Given the description of an element on the screen output the (x, y) to click on. 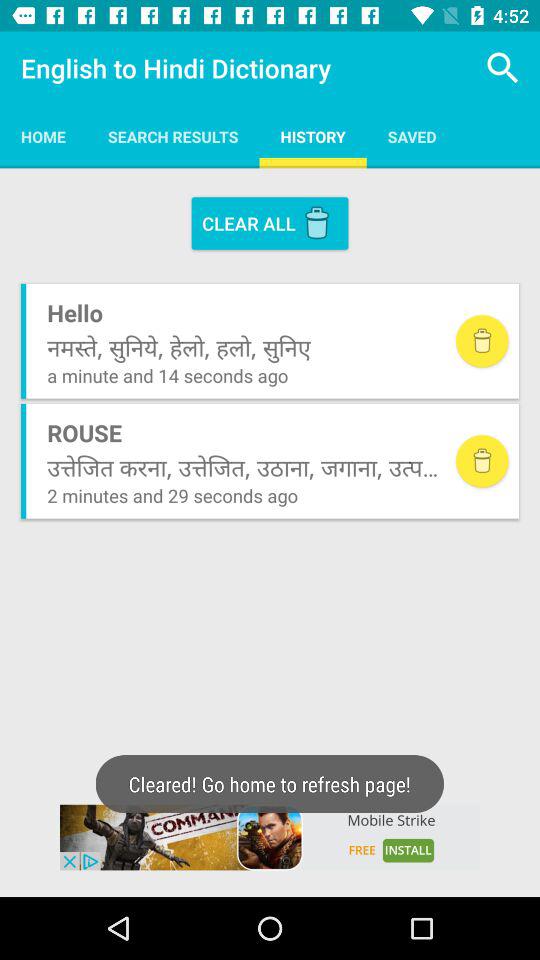
delete this search (482, 461)
